Given the description of an element on the screen output the (x, y) to click on. 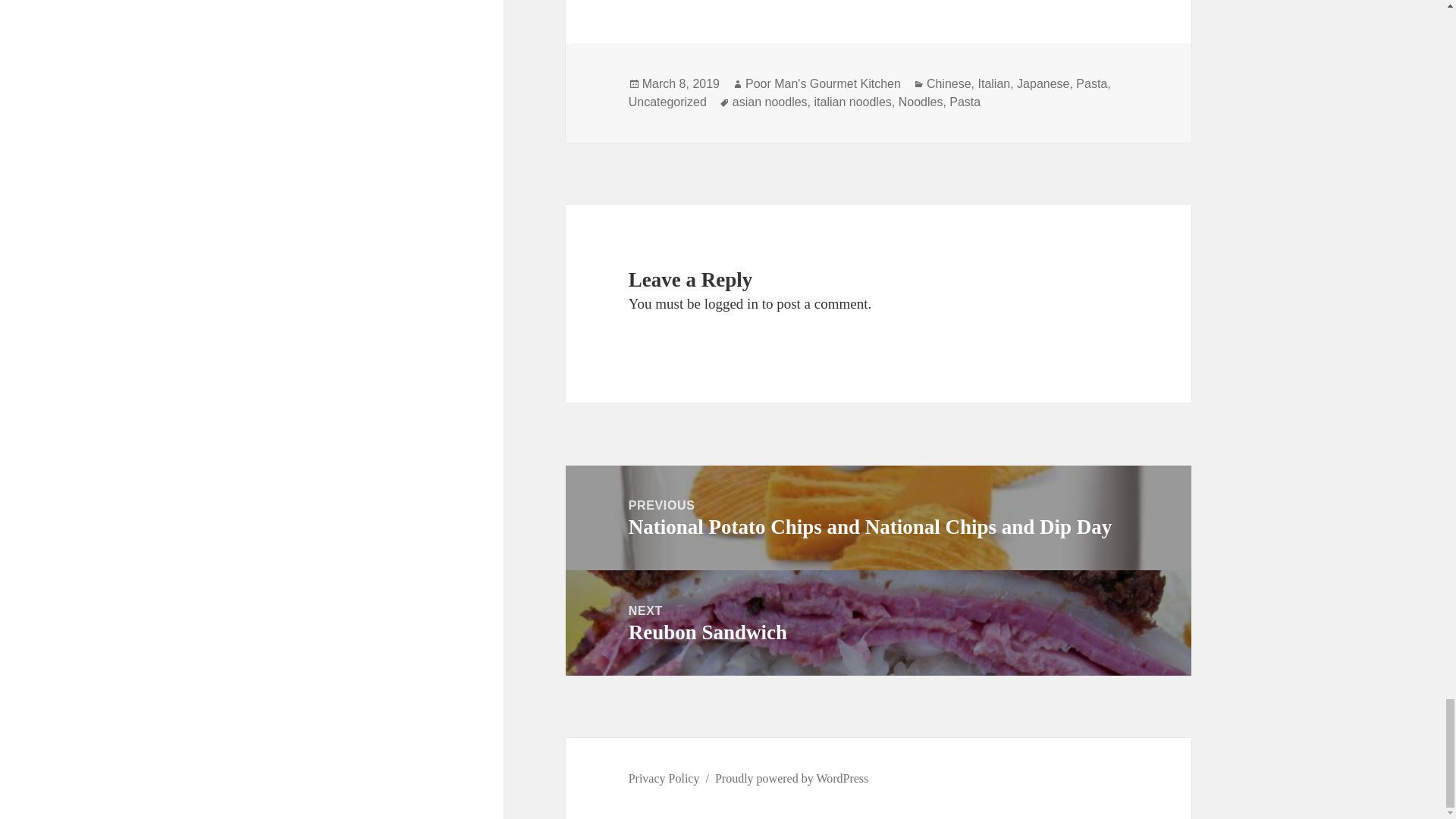
Uncategorized (667, 101)
Poor Man's Gourmet Kitchen (823, 83)
Pasta (1090, 83)
Italian (993, 83)
March 8, 2019 (680, 83)
Japanese (1042, 83)
Chinese (948, 83)
asian noodles (770, 101)
